Given the description of an element on the screen output the (x, y) to click on. 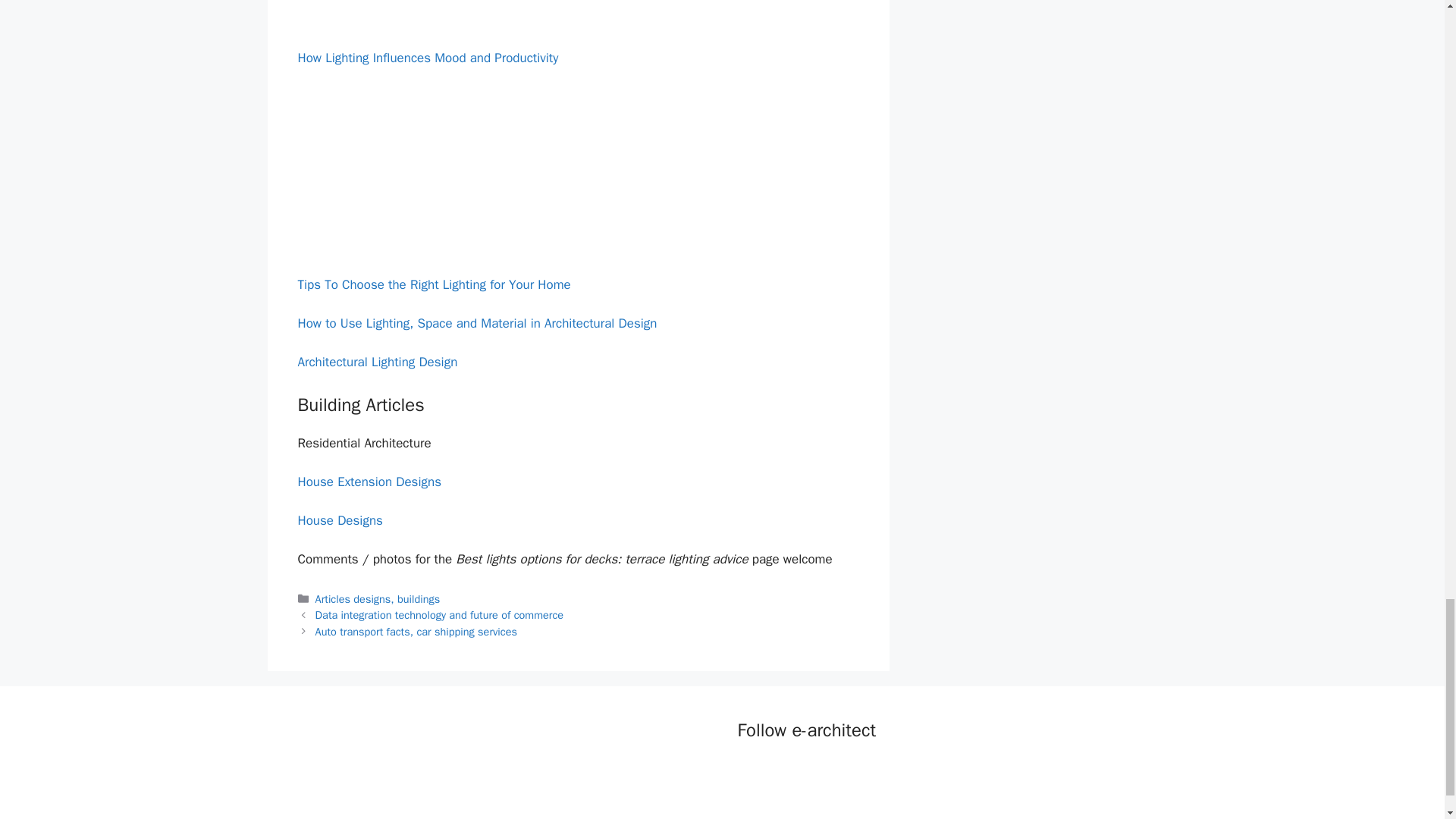
facebook (749, 772)
How Lighting Influences Mood and Productivity (427, 57)
Tips To Choose the Right Lighting for Your Home (433, 284)
twitter (781, 772)
House Designs (339, 520)
Auto transport facts, car shipping services (415, 631)
Data integration technology and future of commerce (439, 614)
instagram (842, 772)
Articles designs, buildings (378, 599)
House Extension Designs (369, 481)
